Given the description of an element on the screen output the (x, y) to click on. 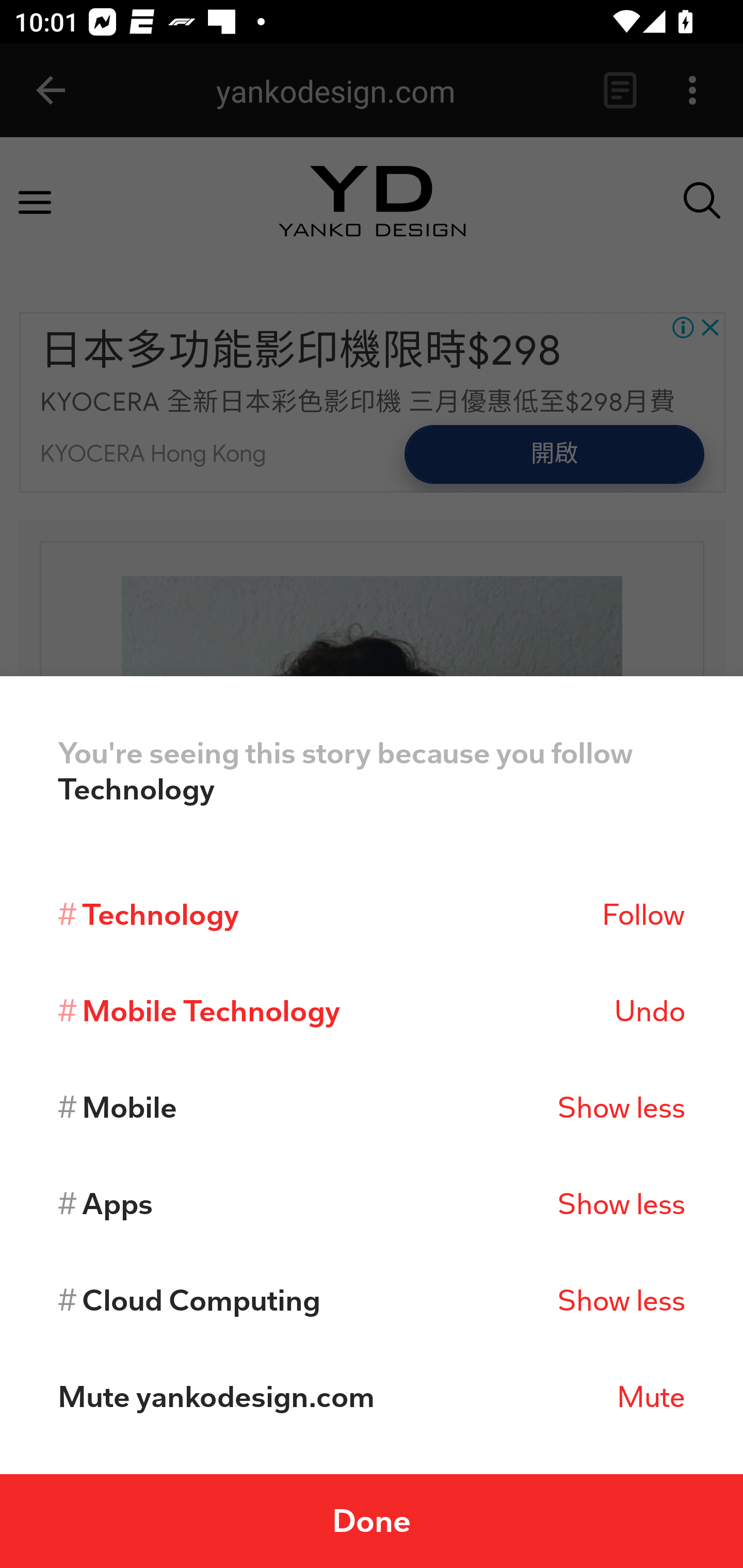
Follow (643, 914)
Undo (649, 1011)
Show less (621, 1107)
Show less (621, 1204)
Show less (621, 1300)
Mute (651, 1396)
Done (371, 1520)
